Given the description of an element on the screen output the (x, y) to click on. 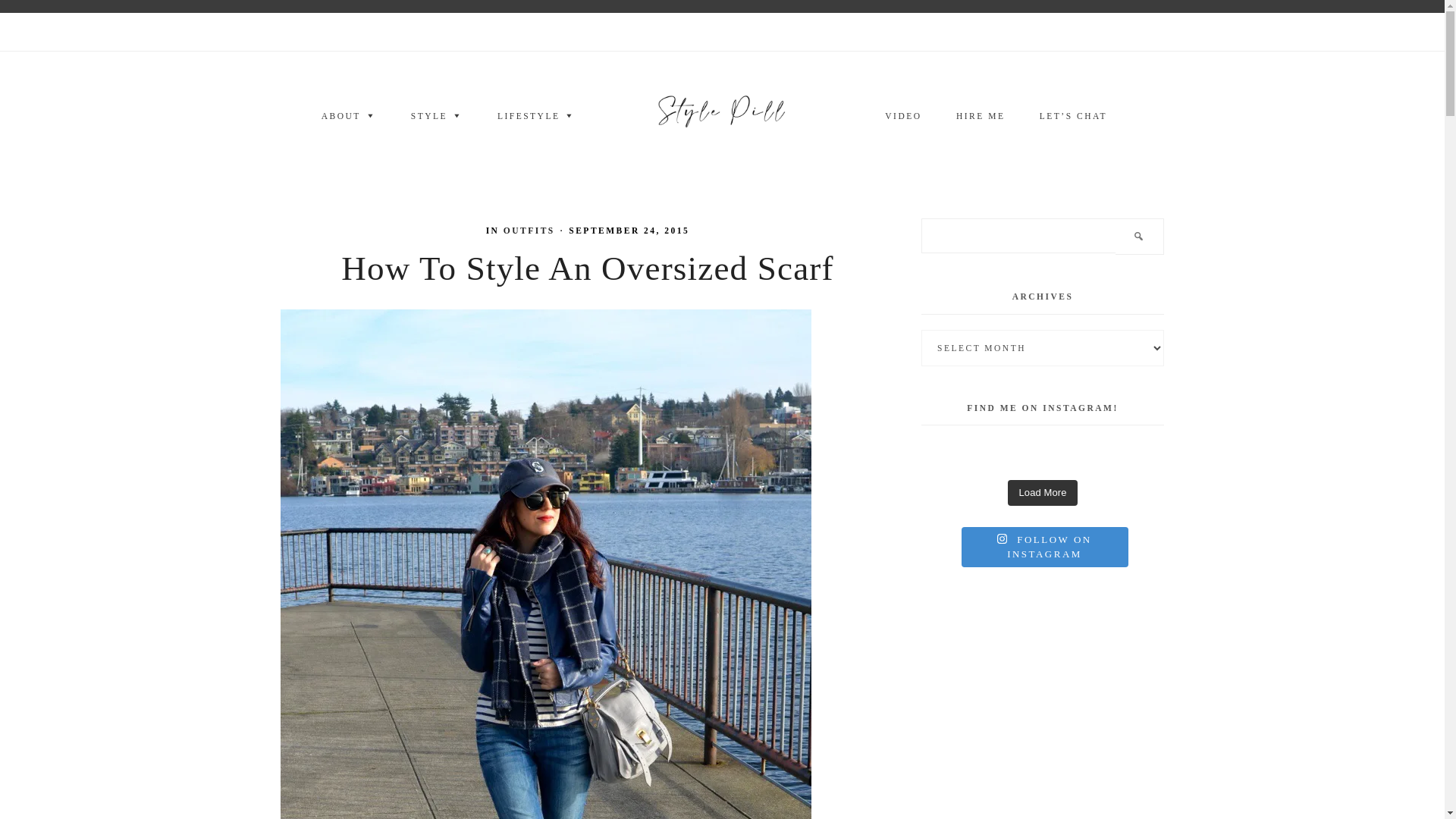
Load More (1042, 492)
FOLLOW ON INSTAGRAM (1044, 546)
LIFESTYLE (536, 116)
ABOUT (348, 116)
VIDEO (902, 116)
HIRE ME (980, 116)
OUTFITS (528, 230)
How To Style An Oversized Scarf (586, 268)
STYLE (437, 116)
My Style Pill (722, 115)
